Given the description of an element on the screen output the (x, y) to click on. 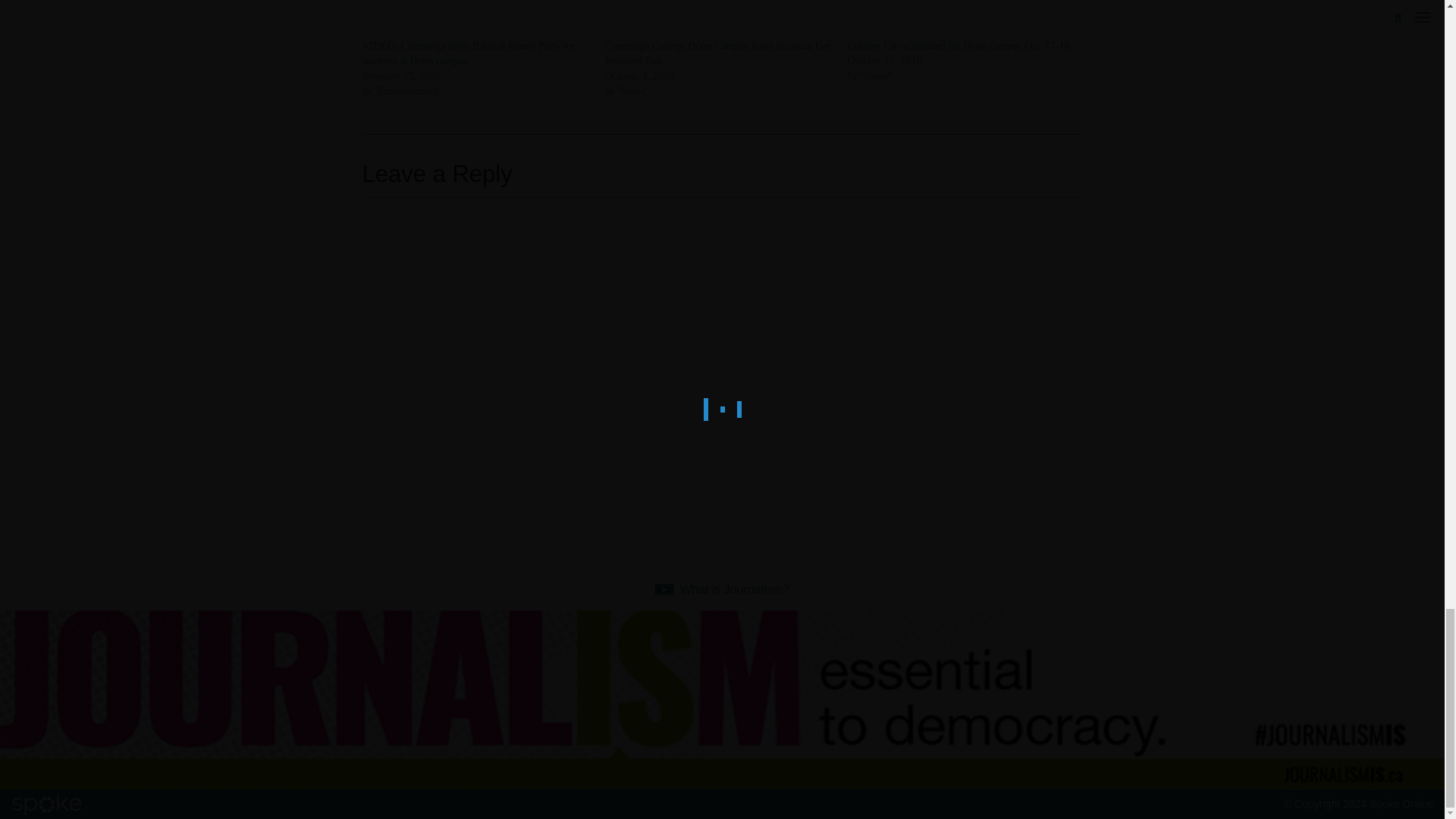
College Fair scheduled for Doon campus Oct. 17-18 (958, 45)
College Fair scheduled for Doon campus Oct. 17-18 (961, 19)
College Fair scheduled for Doon campus Oct. 17-18 (958, 45)
What is Journalism? (722, 589)
